Given the description of an element on the screen output the (x, y) to click on. 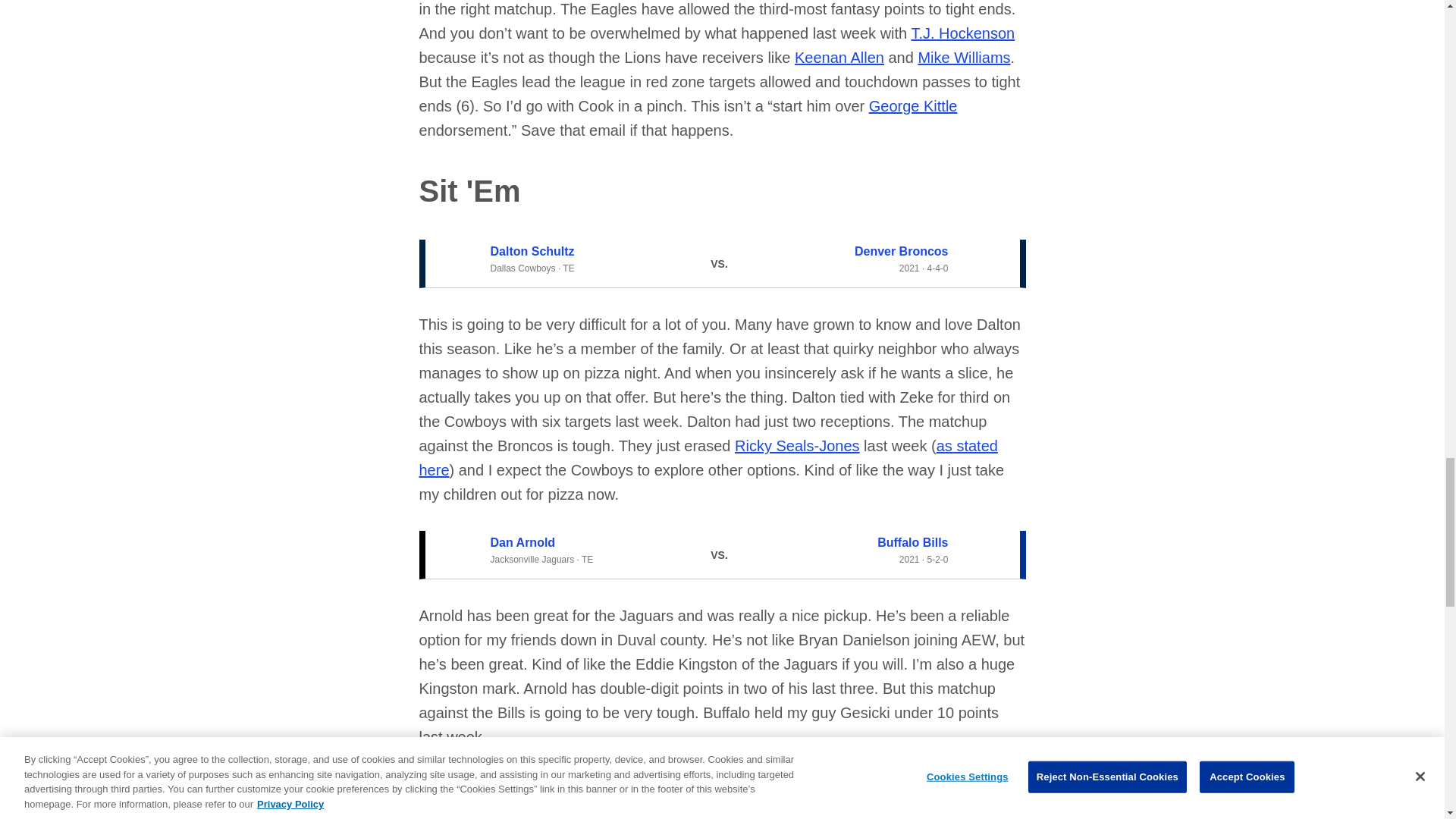
Mike Williams (963, 57)
Dalton Schultz (531, 250)
Denver Broncos (901, 250)
T.J. Hockenson (962, 33)
Keenan Allen (838, 57)
George Kittle (913, 105)
